Given the description of an element on the screen output the (x, y) to click on. 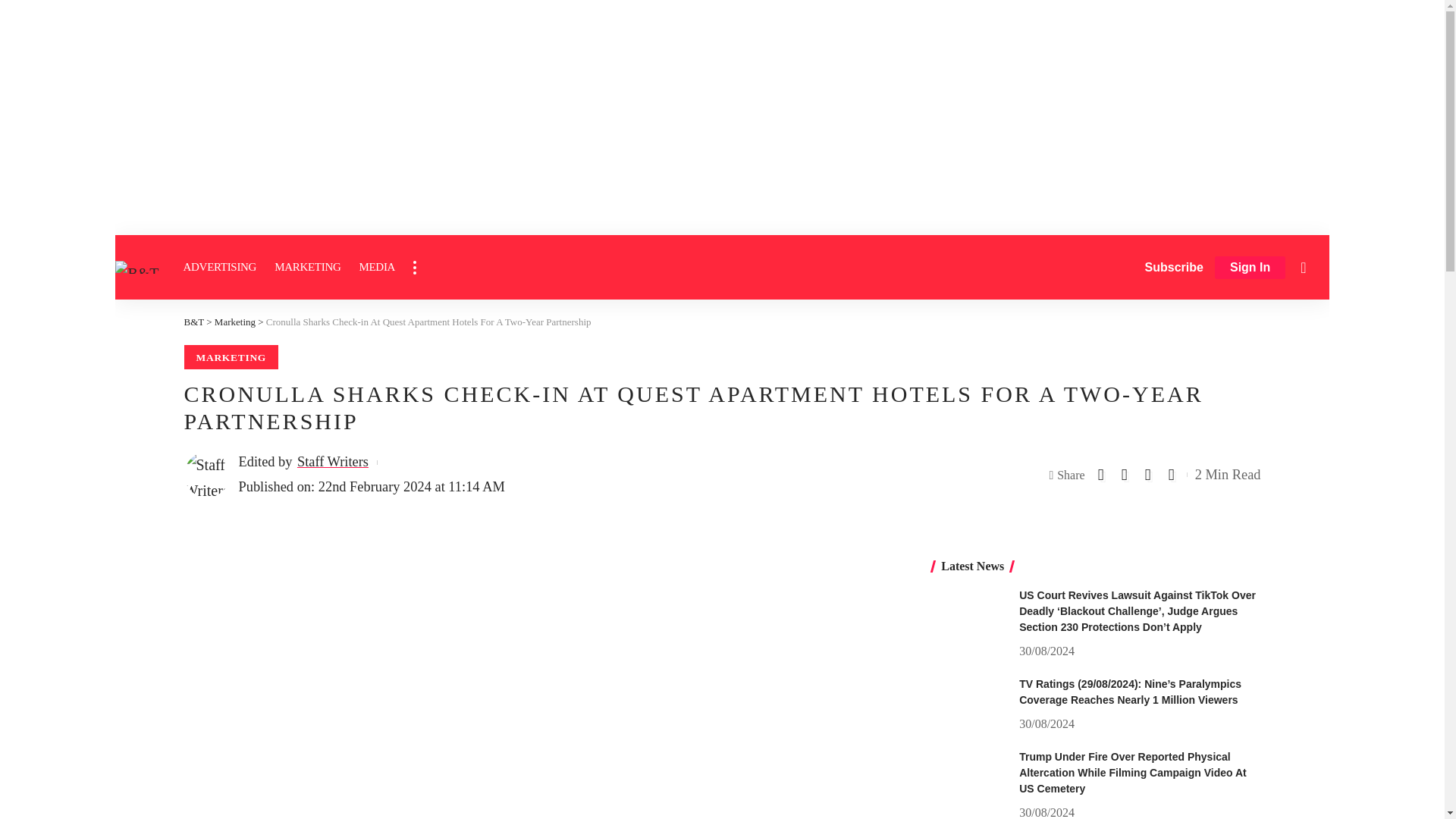
MARKETING (306, 267)
Sign In (1249, 267)
ADVERTISING (220, 267)
Go to the Marketing Category archives. (235, 321)
Subscribe (1174, 267)
